Given the description of an element on the screen output the (x, y) to click on. 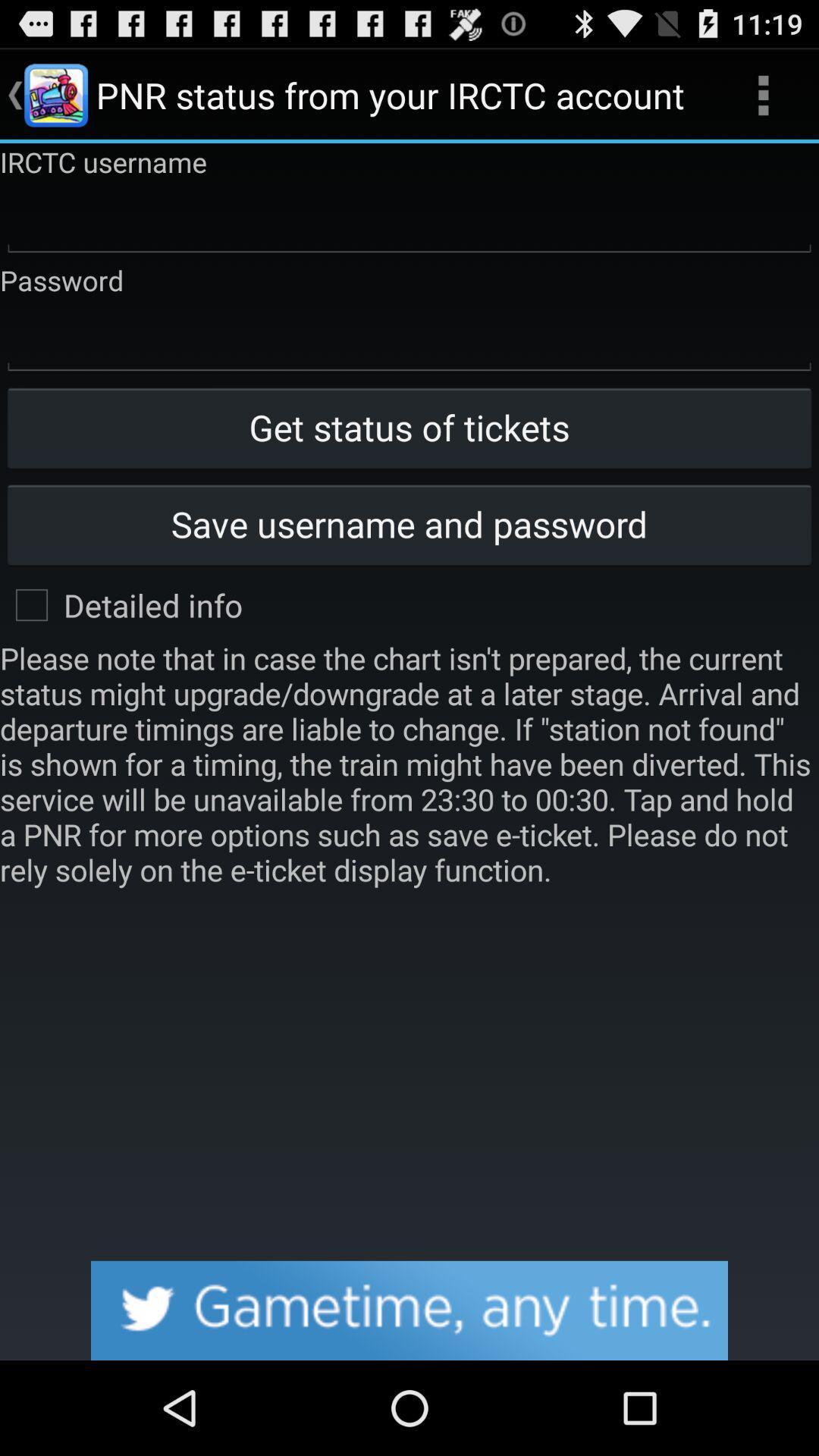
enter rctc username (409, 221)
